Given the description of an element on the screen output the (x, y) to click on. 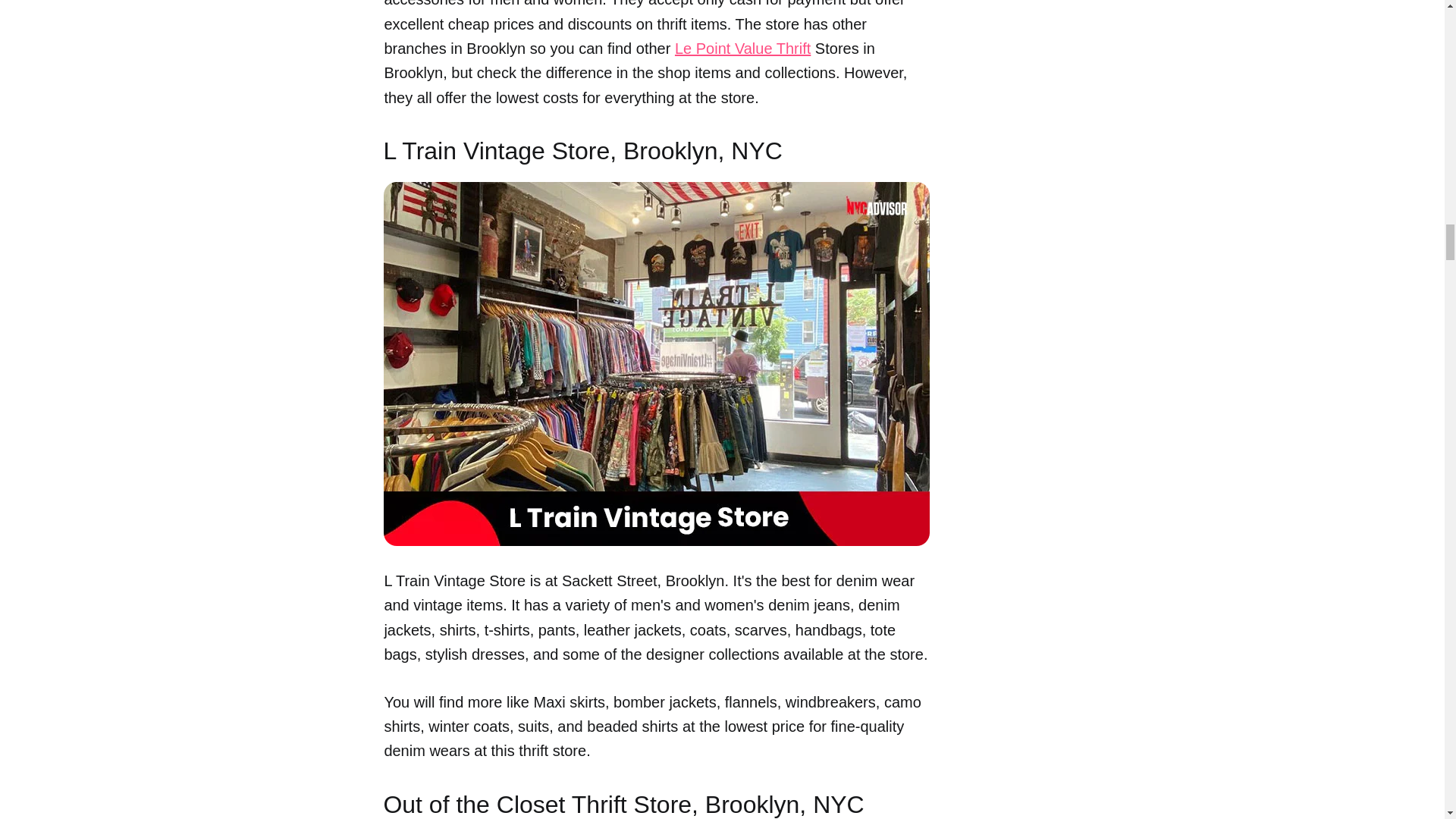
Le Point Value Thrift (742, 48)
